Given the description of an element on the screen output the (x, y) to click on. 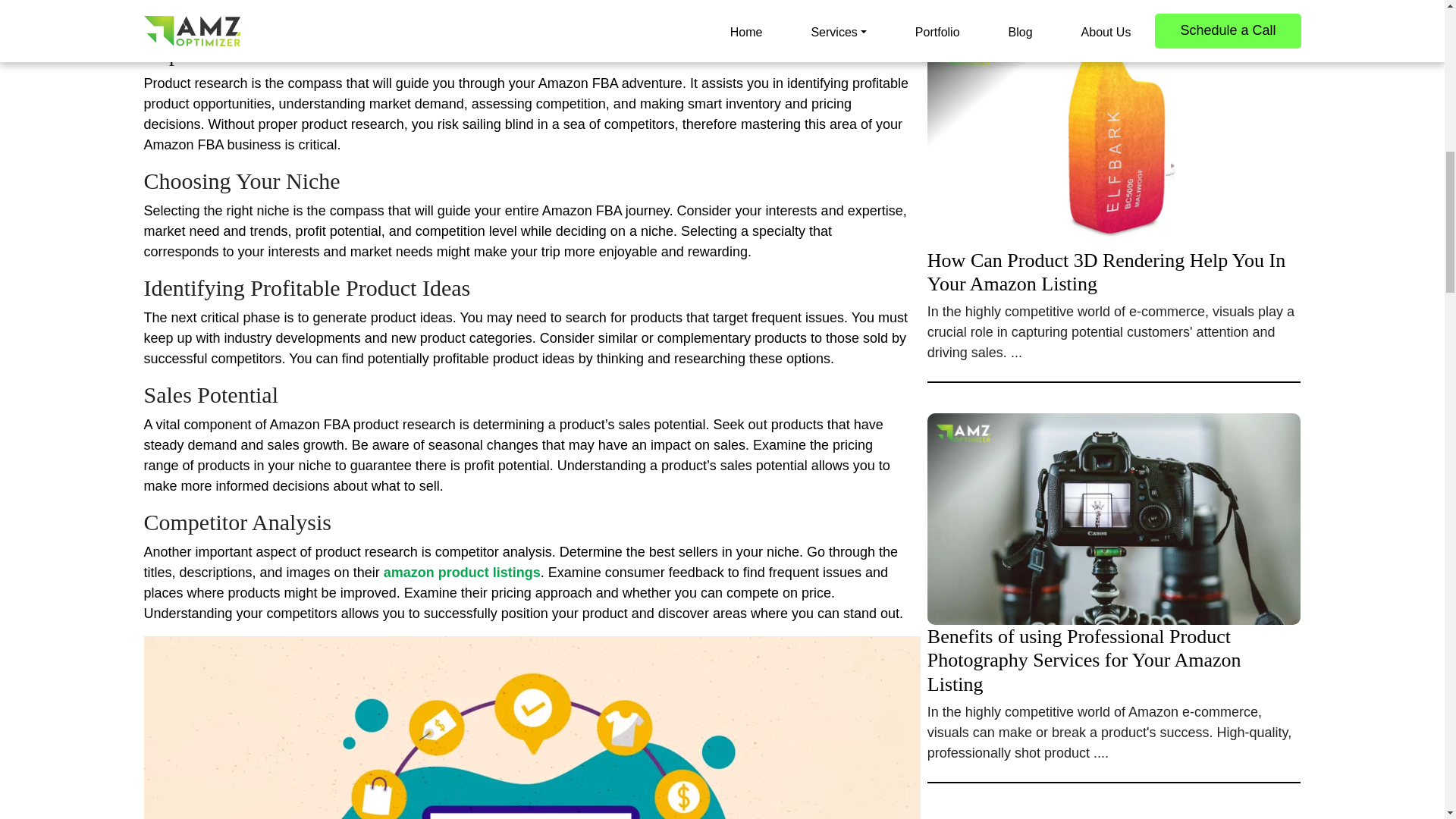
amazon product listings (462, 572)
How Can Product 3D Rendering Help You In Your Amazon Listing (1114, 215)
